Given the description of an element on the screen output the (x, y) to click on. 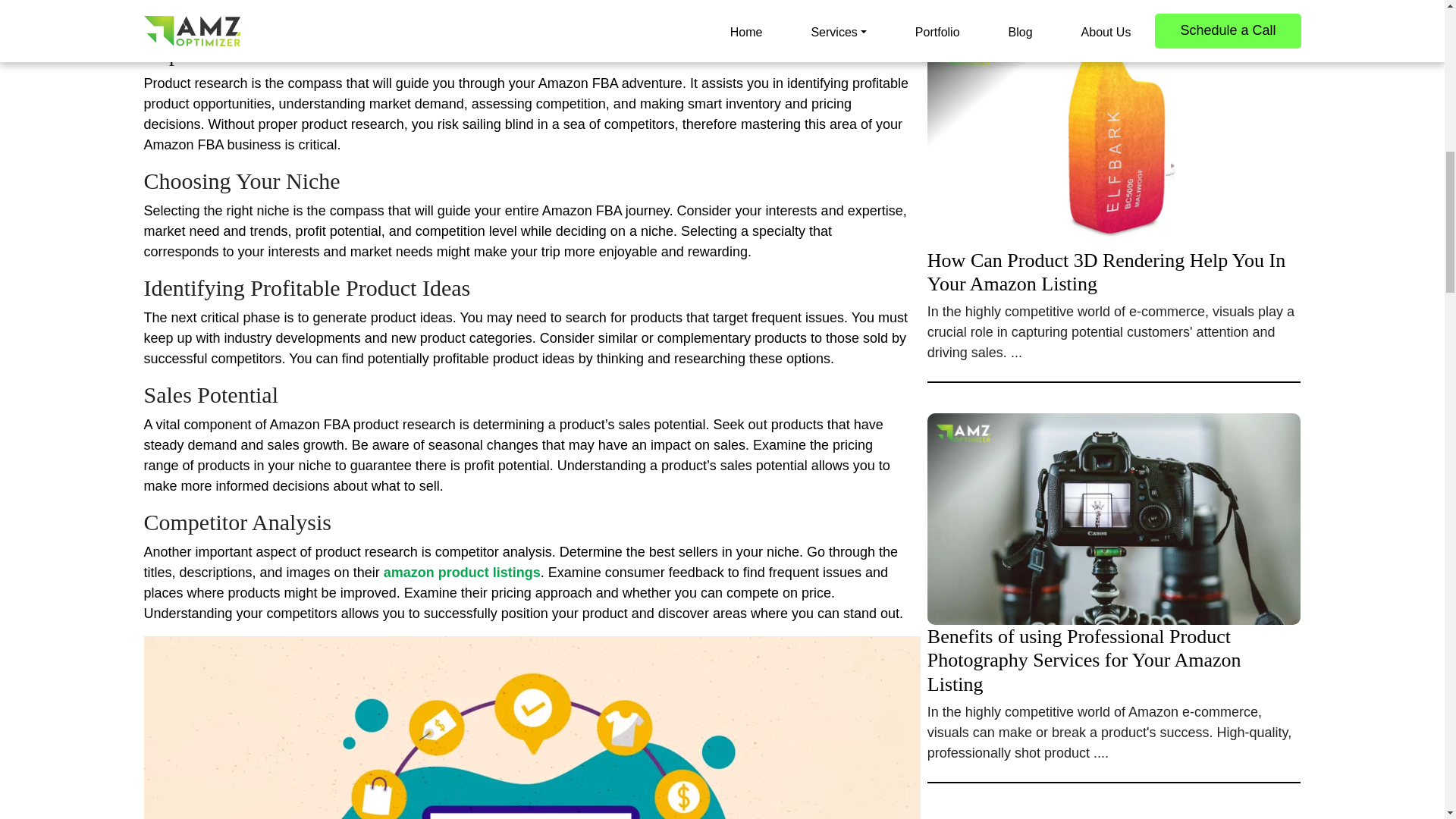
amazon product listings (462, 572)
How Can Product 3D Rendering Help You In Your Amazon Listing (1114, 215)
